Given the description of an element on the screen output the (x, y) to click on. 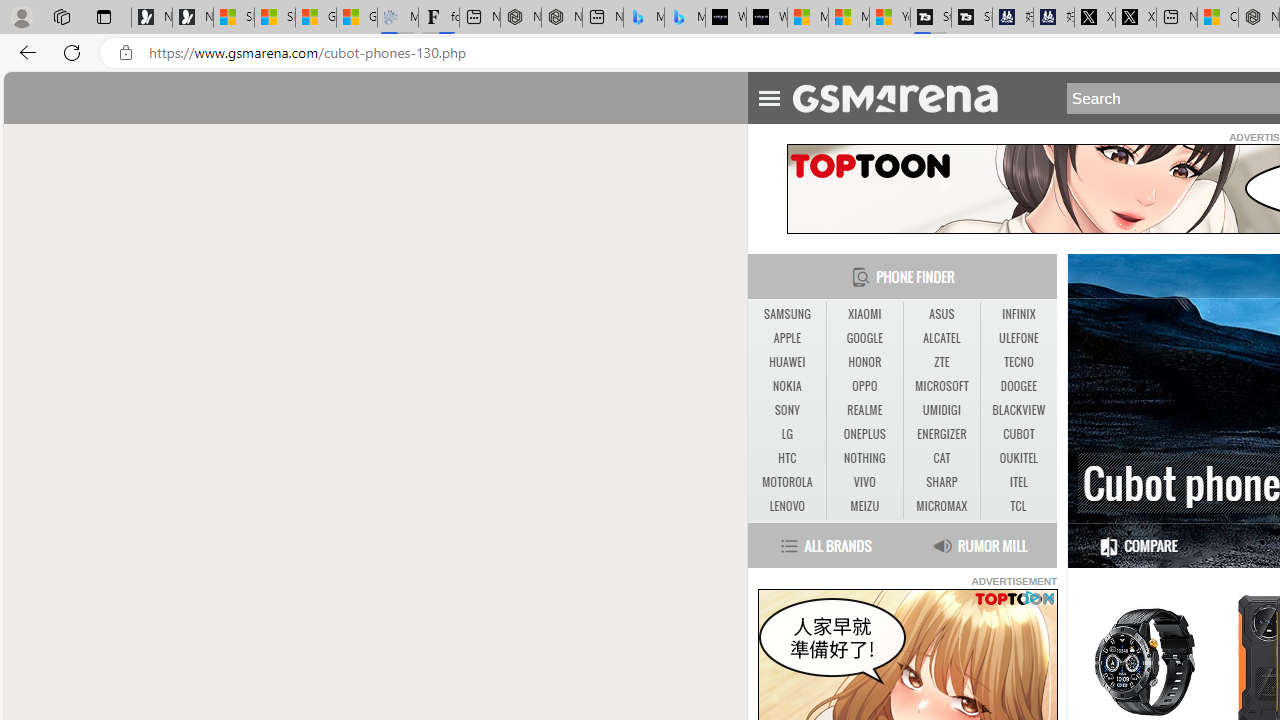
TECNO (1018, 362)
